Given the description of an element on the screen output the (x, y) to click on. 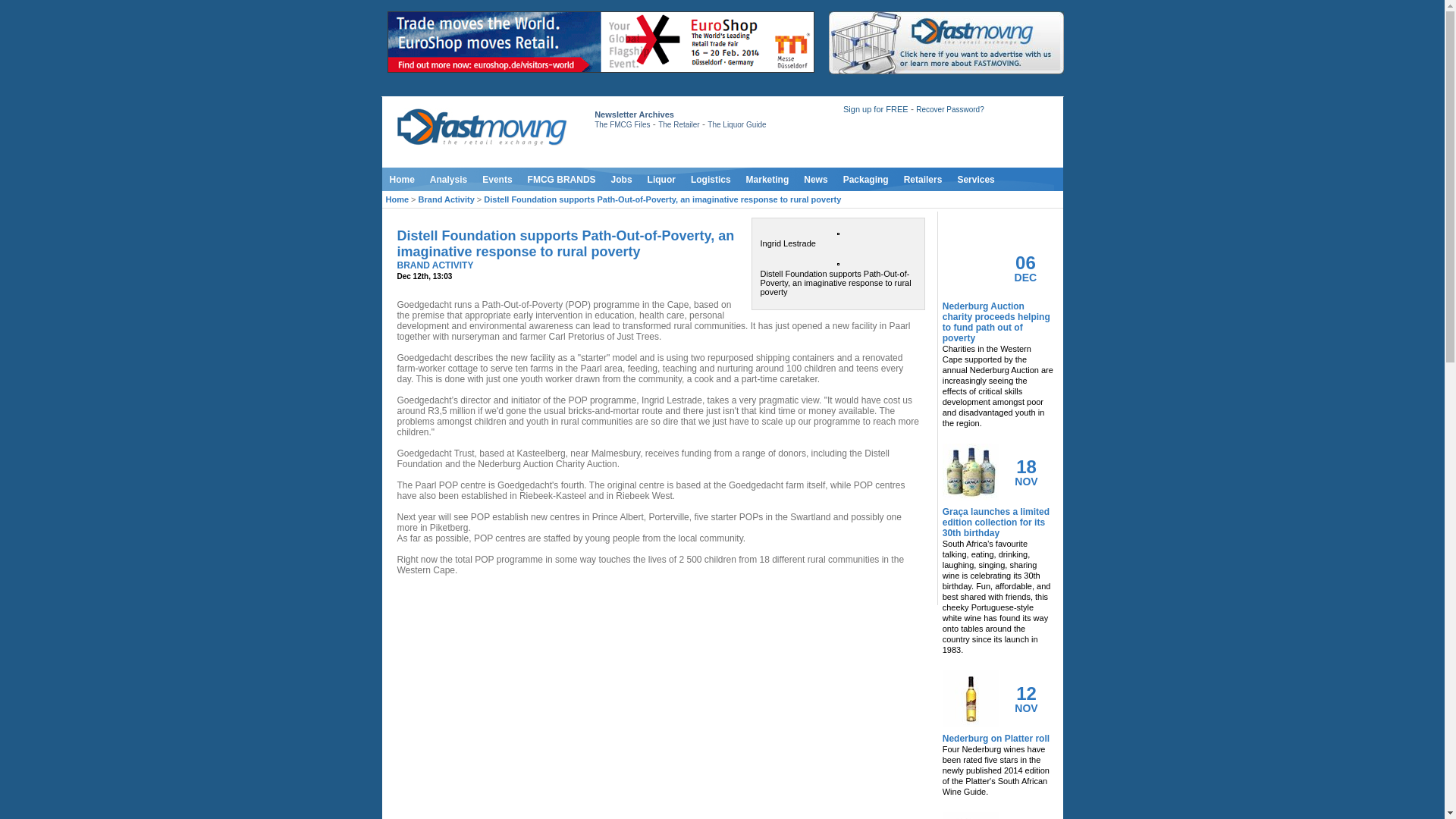
Click here to contact or advertise with Fastmoving.co.za (945, 71)
Home (401, 178)
Analysis (448, 178)
Click here to contact or advertise with Fastmoving.co.za (945, 42)
Sign up to Fastmoving.co.za (875, 108)
Events (496, 178)
Recover Password? (949, 109)
The FMCG Files Newsletter (621, 124)
The Liquor Guide Newsletter (736, 124)
The Liquor Guide (736, 124)
Click here to recover your account (949, 109)
Sign up for FREE (875, 108)
Analysis (448, 178)
Home (401, 178)
The FMCG Files (621, 124)
